Given the description of an element on the screen output the (x, y) to click on. 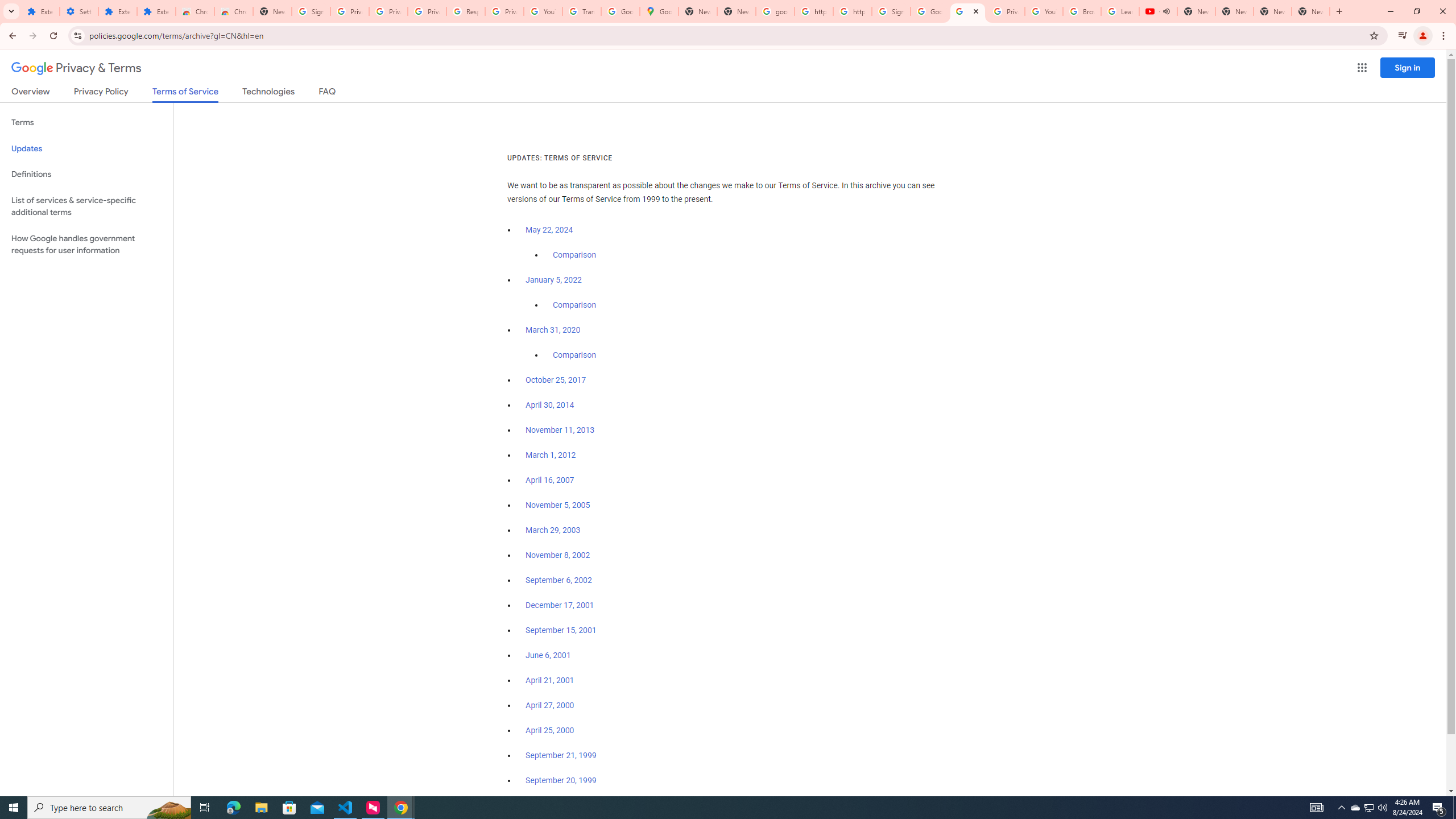
September 6, 2002 (558, 579)
Extensions (156, 11)
April 25, 2000 (550, 729)
